Given the description of an element on the screen output the (x, y) to click on. 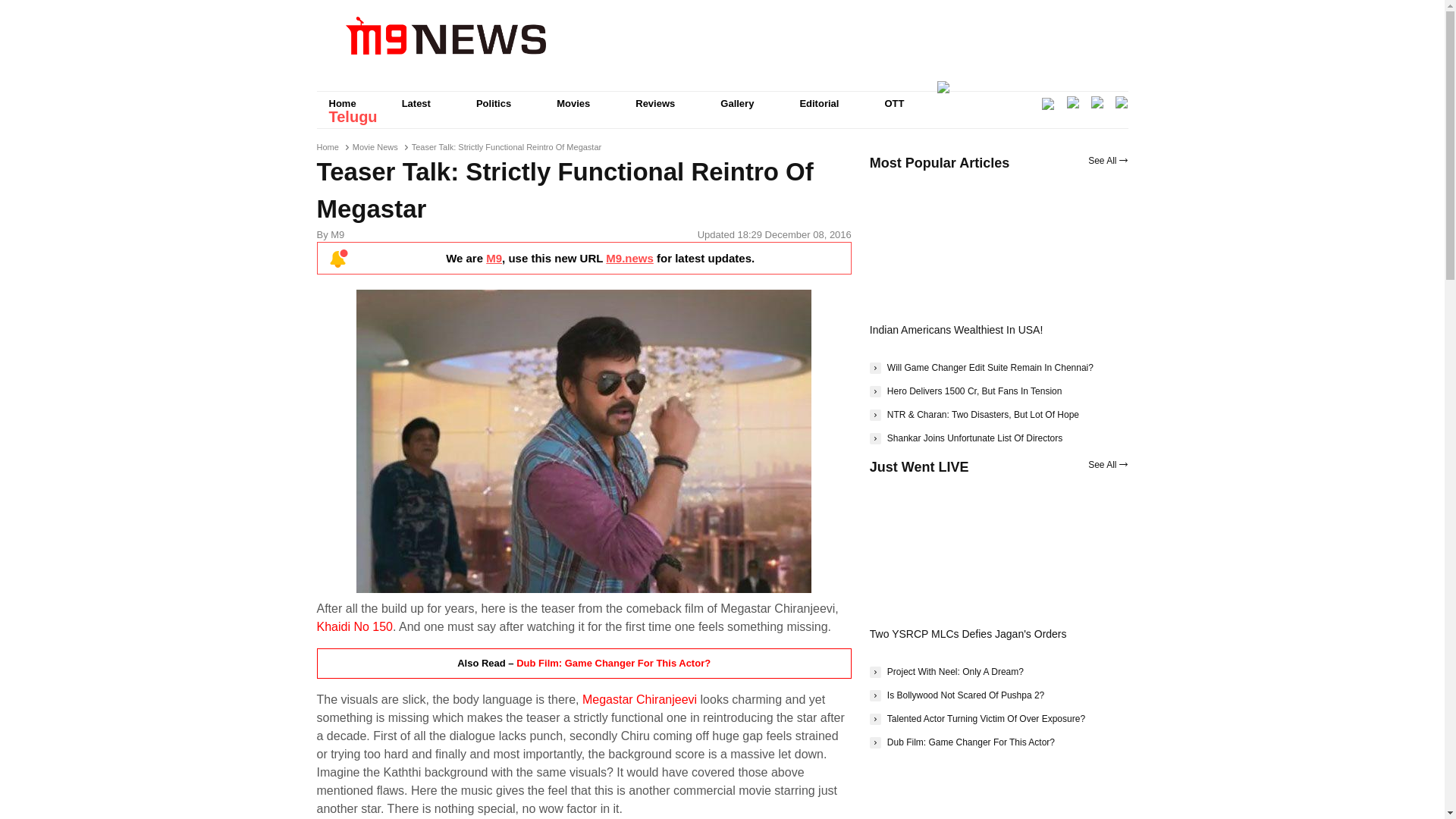
Khaidi No 150 (355, 626)
Movie News (374, 146)
Indian Americans Wealthiest In USA! (956, 329)
Telugu (353, 116)
Politics (493, 102)
OTT (893, 102)
Megastar Chiranjeevi (639, 698)
Will Game Changer Edit Suite Remain In Chennai? (981, 367)
See All (1106, 160)
Latest (416, 102)
Home (342, 102)
Gallery (736, 102)
M9 (494, 257)
Editorial (818, 102)
M9.news (629, 257)
